Given the description of an element on the screen output the (x, y) to click on. 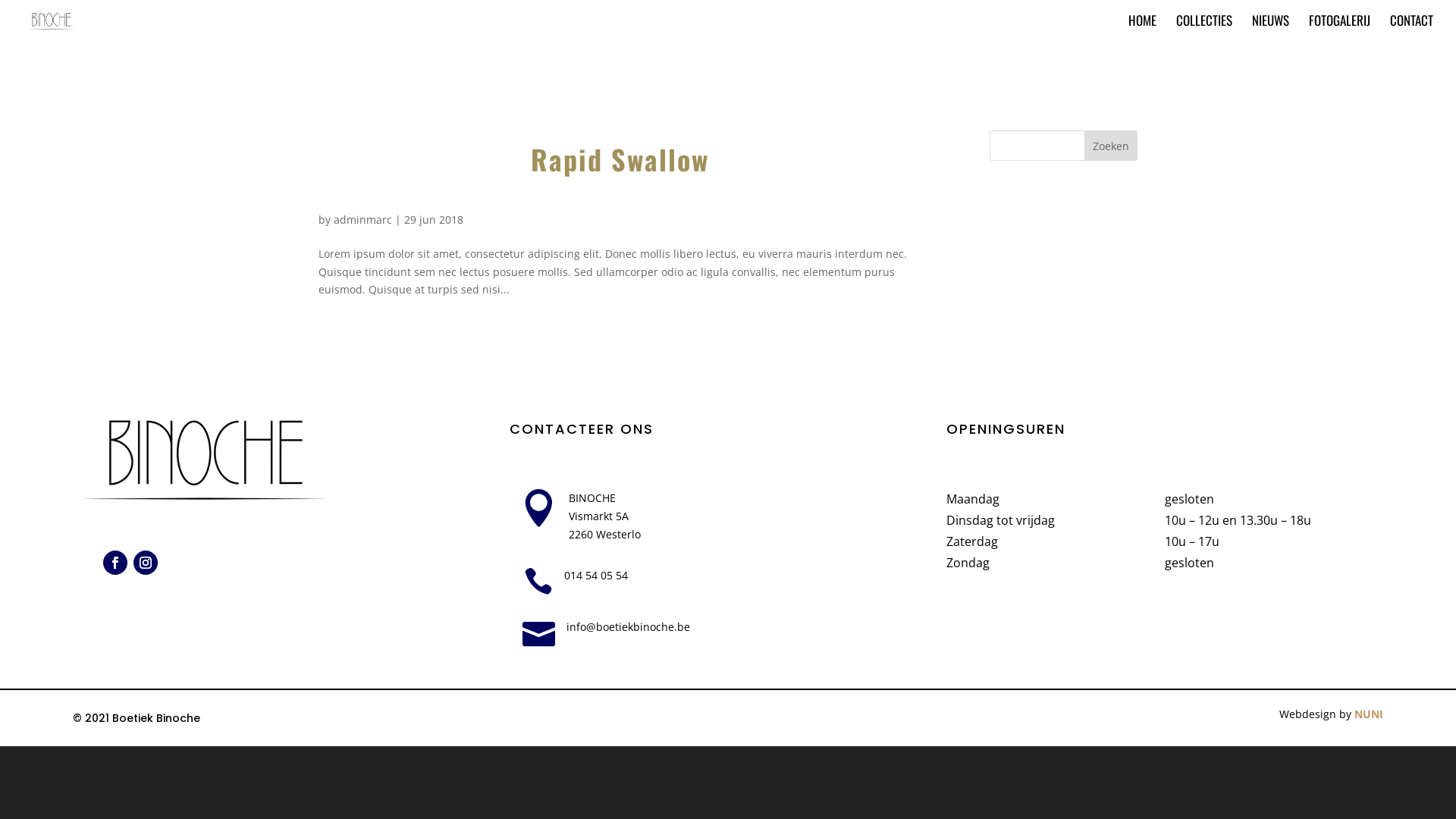
COLLECTIES Element type: text (1204, 27)
NUNI Element type: text (1368, 713)
Follow on Facebook Element type: hover (115, 562)
Rapid Swallow Element type: text (619, 158)
binoche_logo3 Element type: hover (205, 458)
Zoeken Element type: text (1110, 145)
FOTOGALERIJ Element type: text (1339, 27)
HOME Element type: text (1142, 27)
info@boetiekbinoche.be Element type: text (628, 626)
Follow on Instagram Element type: hover (145, 562)
adminmarc Element type: text (362, 219)
NIEUWS Element type: text (1270, 27)
CONTACT Element type: text (1411, 27)
